Given the description of an element on the screen output the (x, y) to click on. 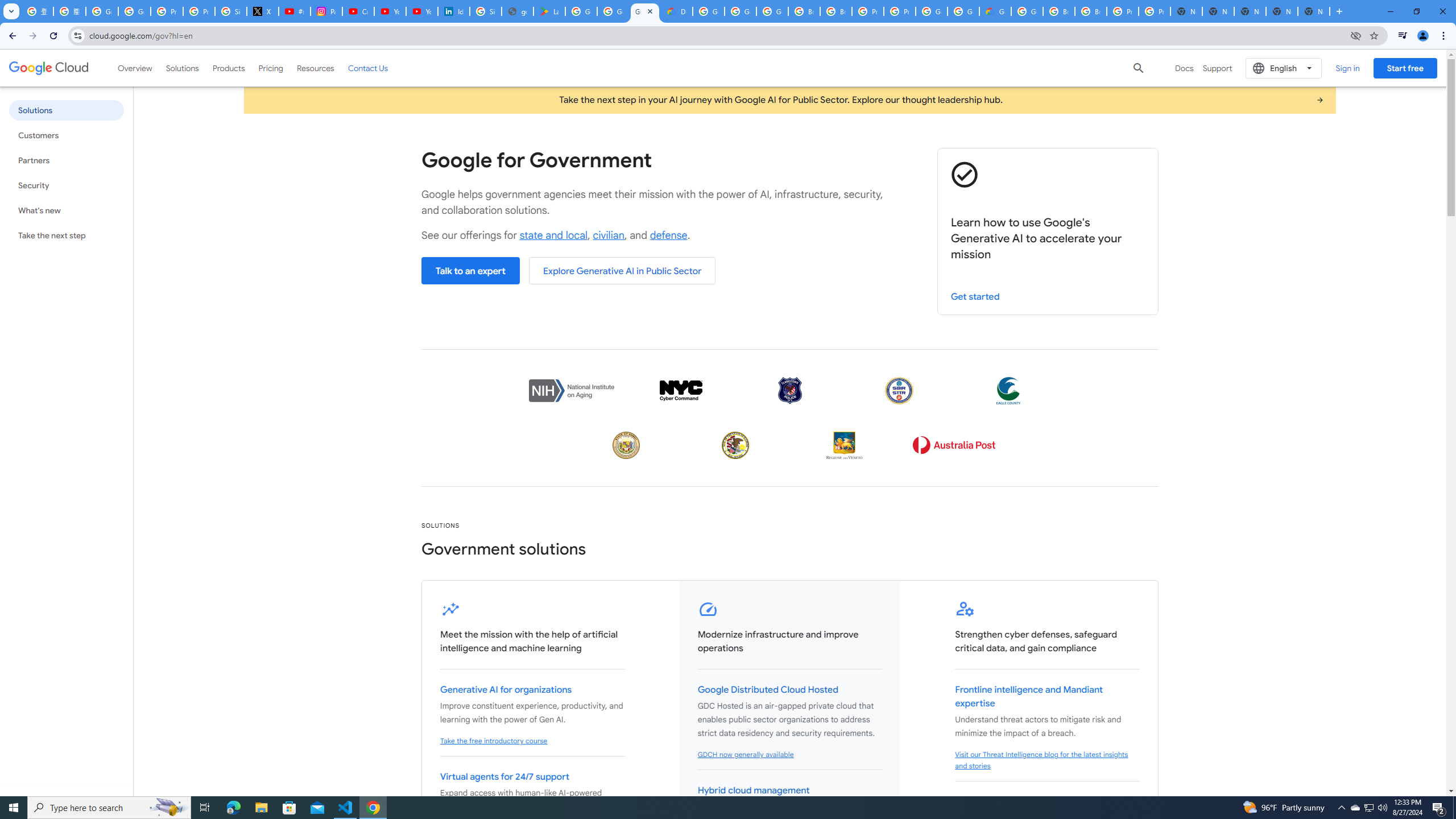
NIA (571, 390)
Regione Veneto (844, 445)
X (262, 11)
